Given the description of an element on the screen output the (x, y) to click on. 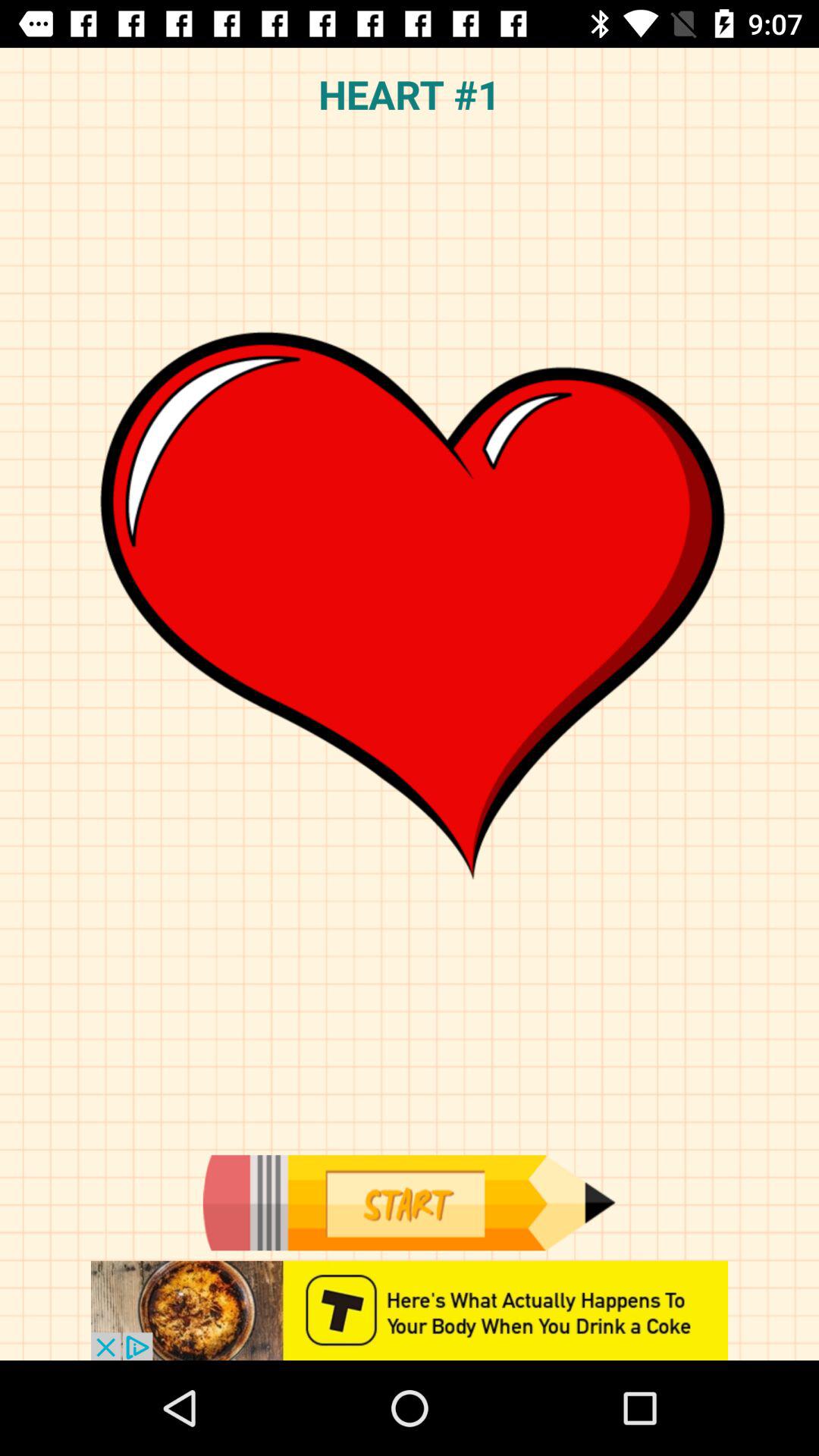
advertisement option (409, 1310)
